Given the description of an element on the screen output the (x, y) to click on. 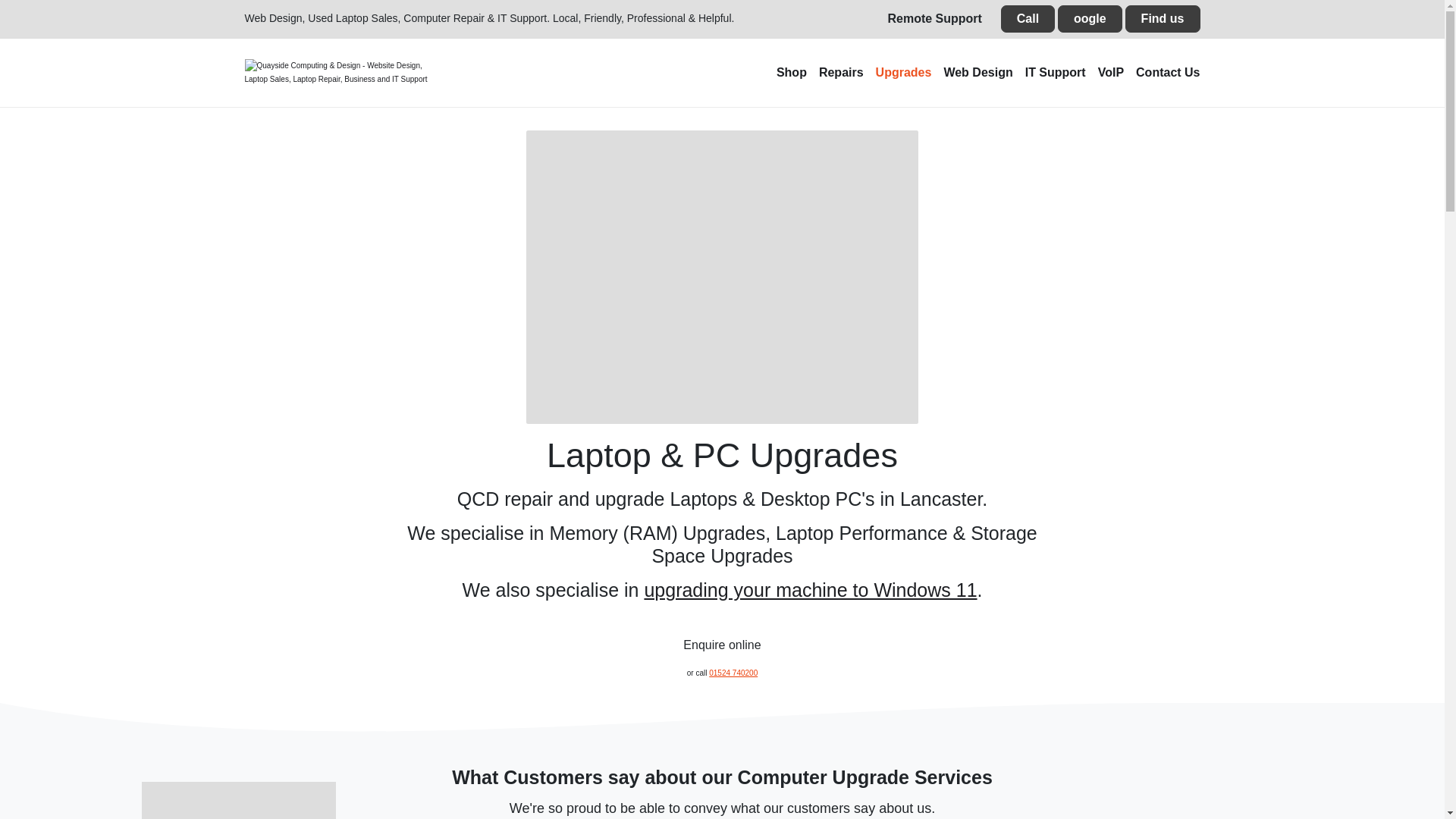
upgrading your machine to Windows 11 (809, 589)
Remote Support (933, 18)
Contact Us (1167, 72)
Web Design (977, 72)
Repairs (840, 72)
01524 740200 (733, 673)
IT Support (1055, 72)
Enquire online (721, 645)
Find us (1162, 18)
Upgrades (903, 72)
oogle (1090, 18)
Call (1027, 18)
